Given the description of an element on the screen output the (x, y) to click on. 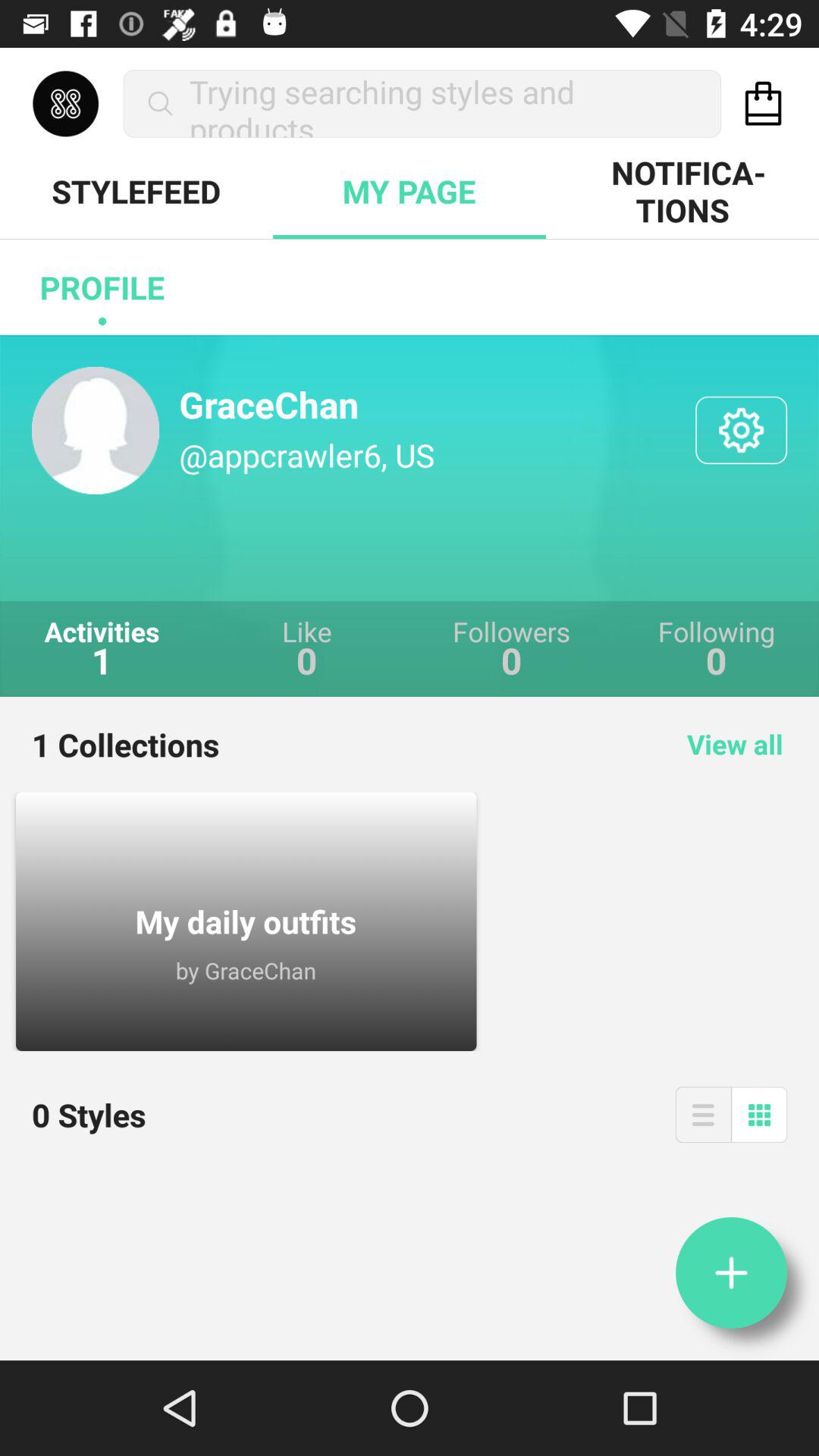
choose profile icon (101, 286)
